Given the description of an element on the screen output the (x, y) to click on. 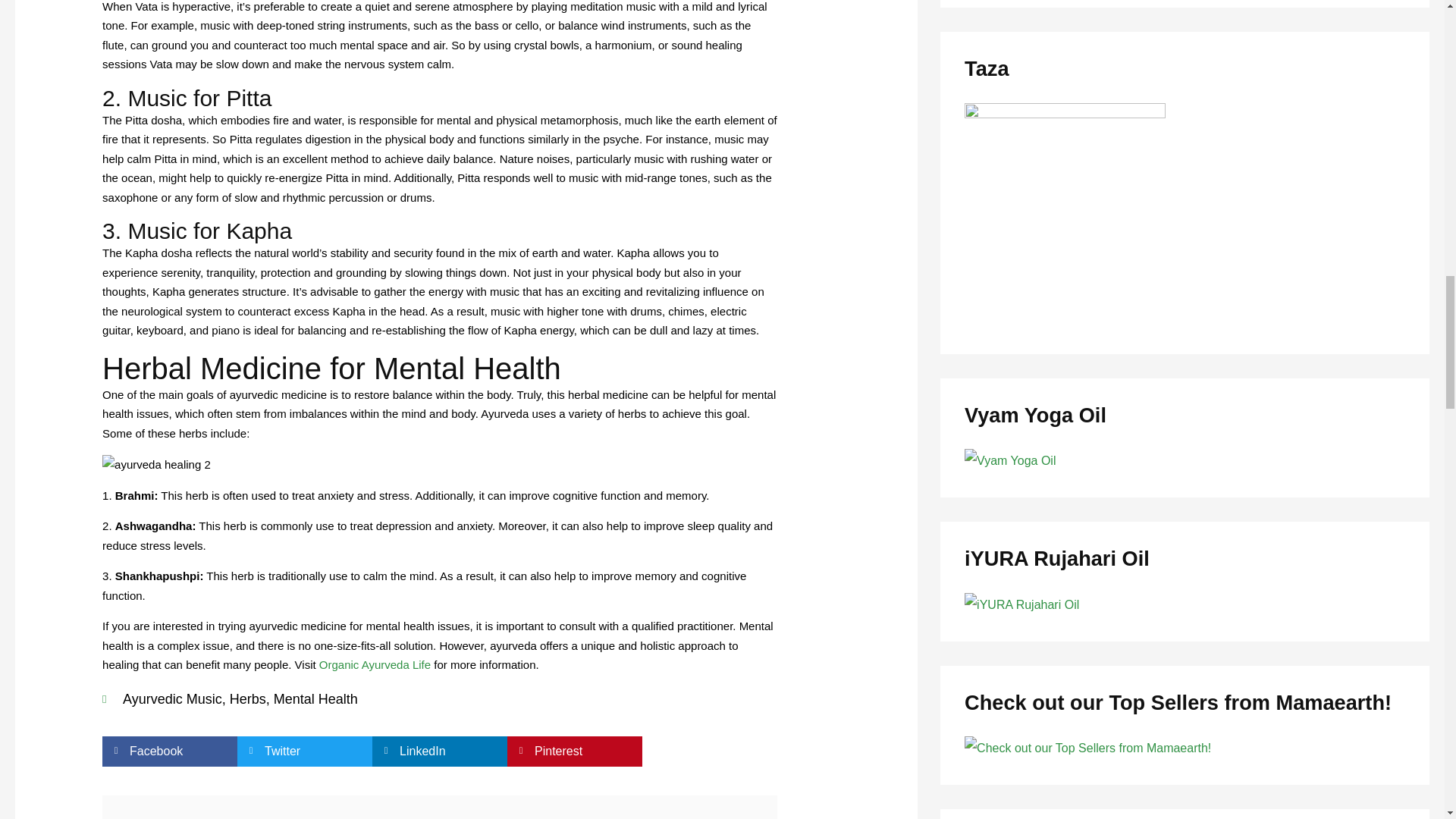
Ayurvedic Music (172, 698)
Mental Health (315, 698)
Organic Ayurveda Life (374, 664)
Herbs (248, 698)
